Given the description of an element on the screen output the (x, y) to click on. 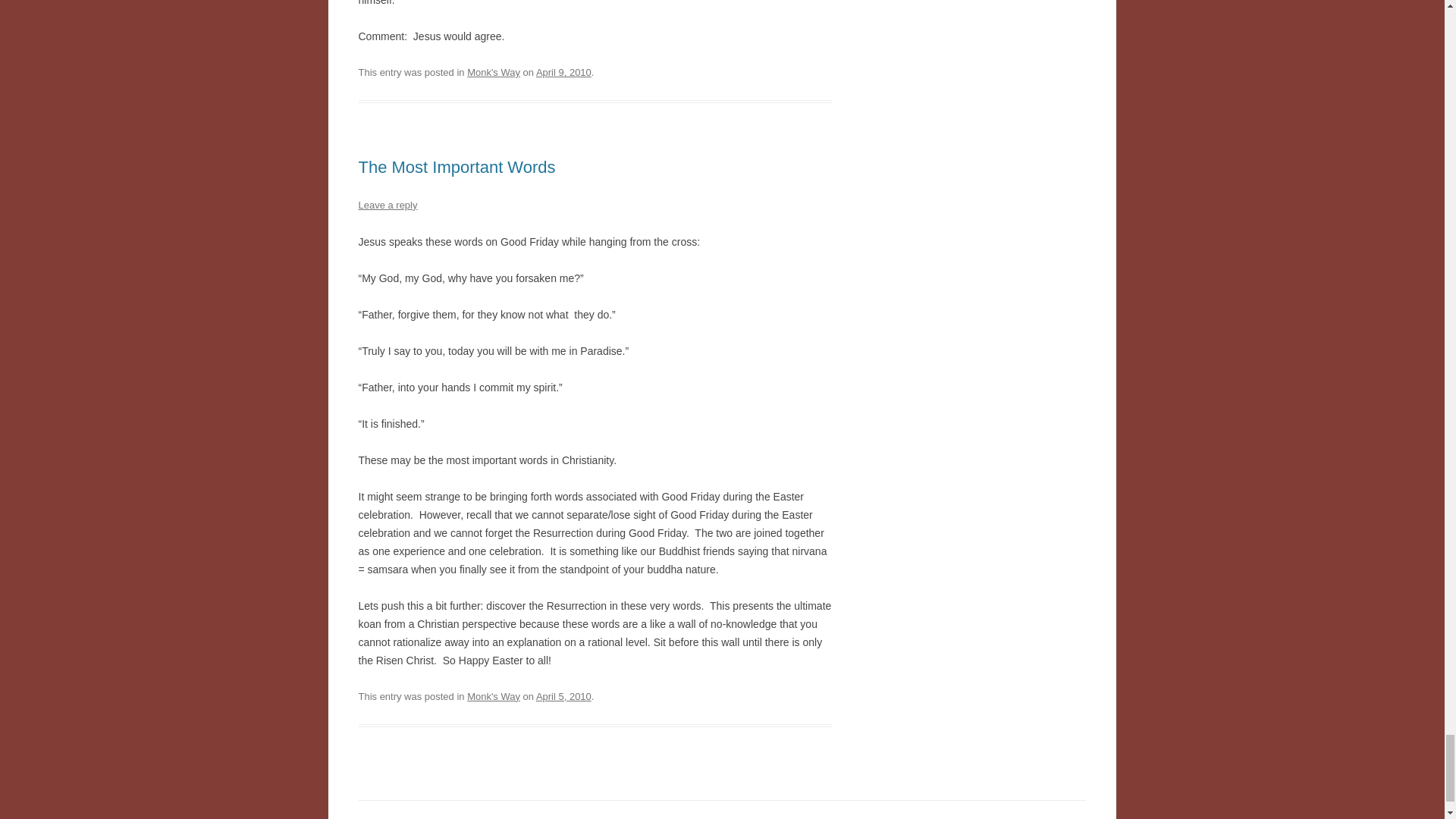
2:01 pm (563, 696)
The Most Important Words (456, 167)
April 9, 2010 (563, 71)
April 5, 2010 (563, 696)
12:30 am (563, 71)
Leave a reply (387, 204)
Monk's Way (493, 71)
Monk's Way (493, 696)
